Given the description of an element on the screen output the (x, y) to click on. 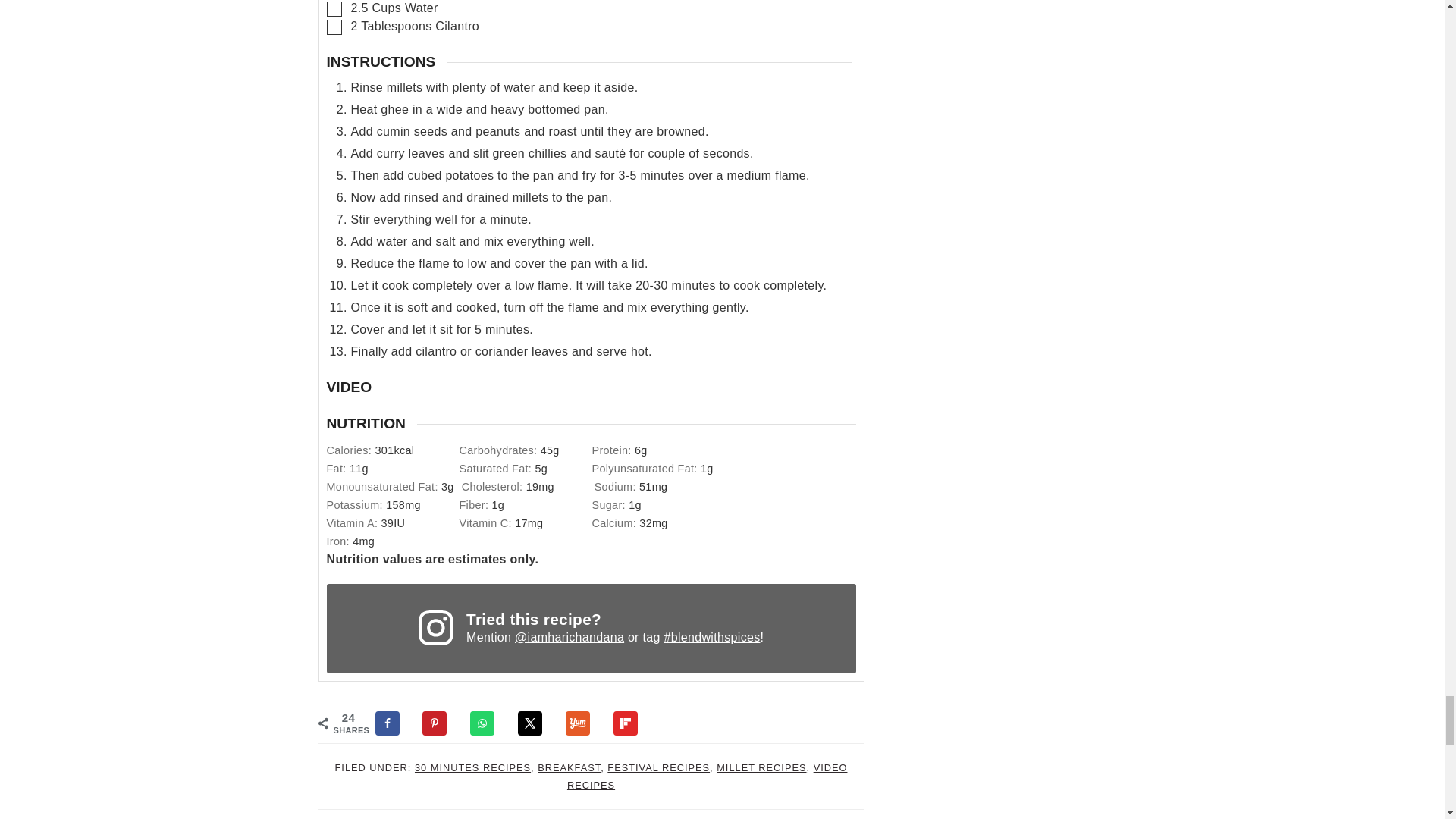
Share on WhatsApp (489, 723)
Share on Flipboard (631, 723)
Share on X (537, 723)
Save to Pinterest (441, 723)
Share on Yummly (585, 723)
Share on Facebook (393, 723)
